Given the description of an element on the screen output the (x, y) to click on. 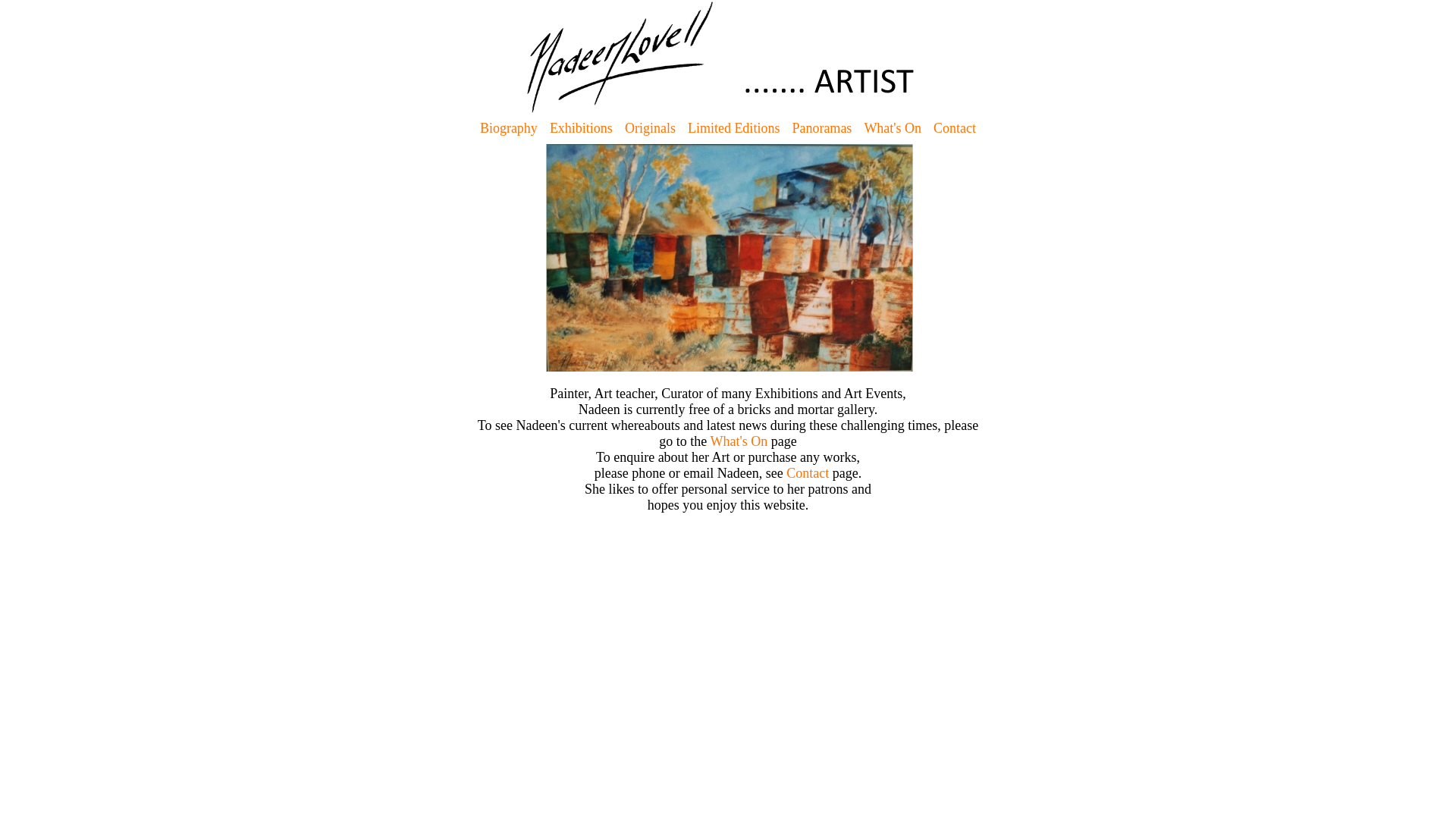
Panoramas Element type: text (821, 128)
Biography Element type: text (508, 128)
Originals Element type: text (650, 128)
Contact Element type: text (954, 128)
Exhibitions Element type: text (581, 128)
What's On Element type: text (738, 440)
Limited Editions Element type: text (733, 128)
What's On Element type: text (892, 128)
Contact Element type: text (807, 472)
